Given the description of an element on the screen output the (x, y) to click on. 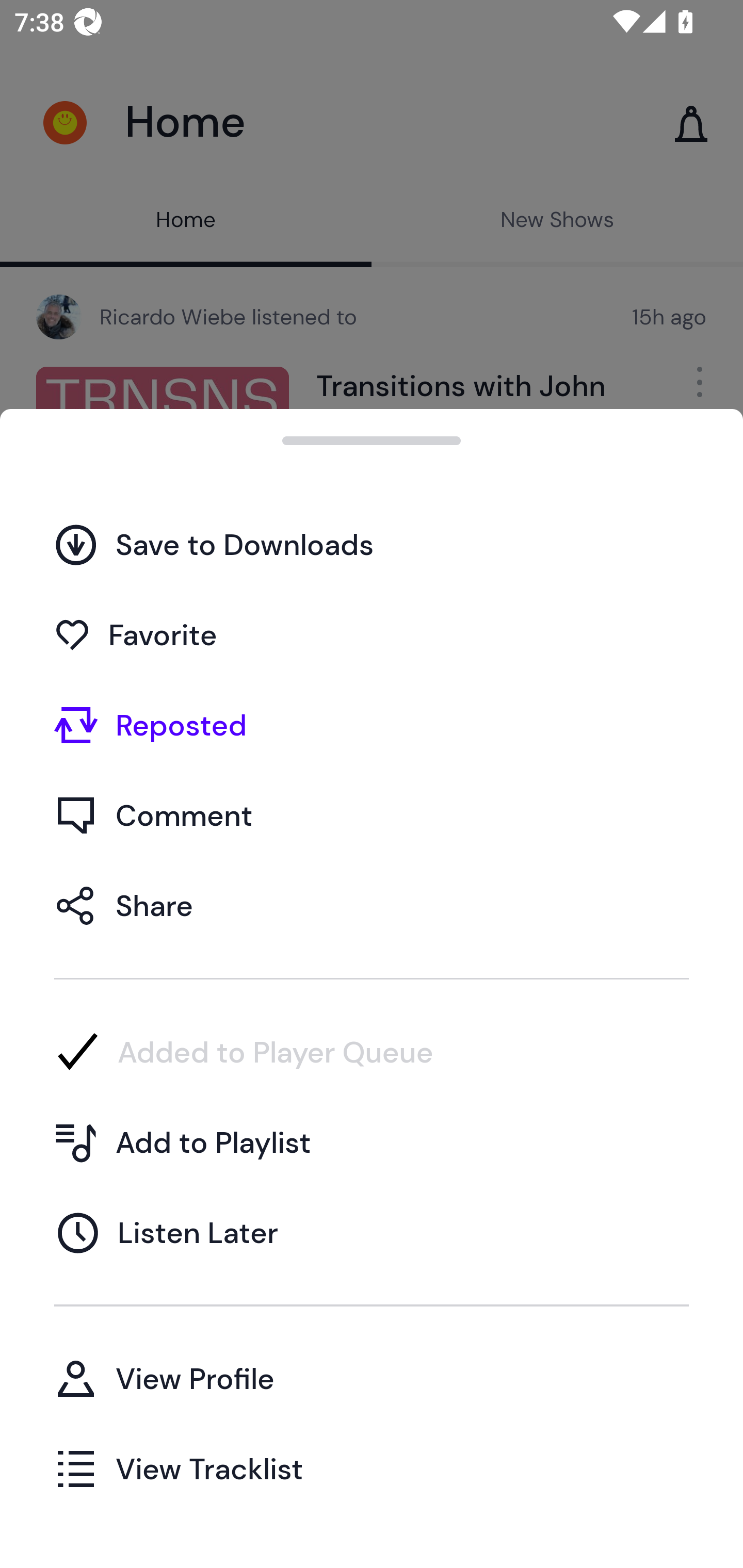
Save to Downloads (371, 543)
Favorite (371, 634)
Reposted (371, 724)
Comment (371, 814)
Share (371, 905)
Add to Playlist (371, 1141)
Listen Later (371, 1231)
View Profile (371, 1377)
View Tracklist (371, 1468)
